Given the description of an element on the screen output the (x, y) to click on. 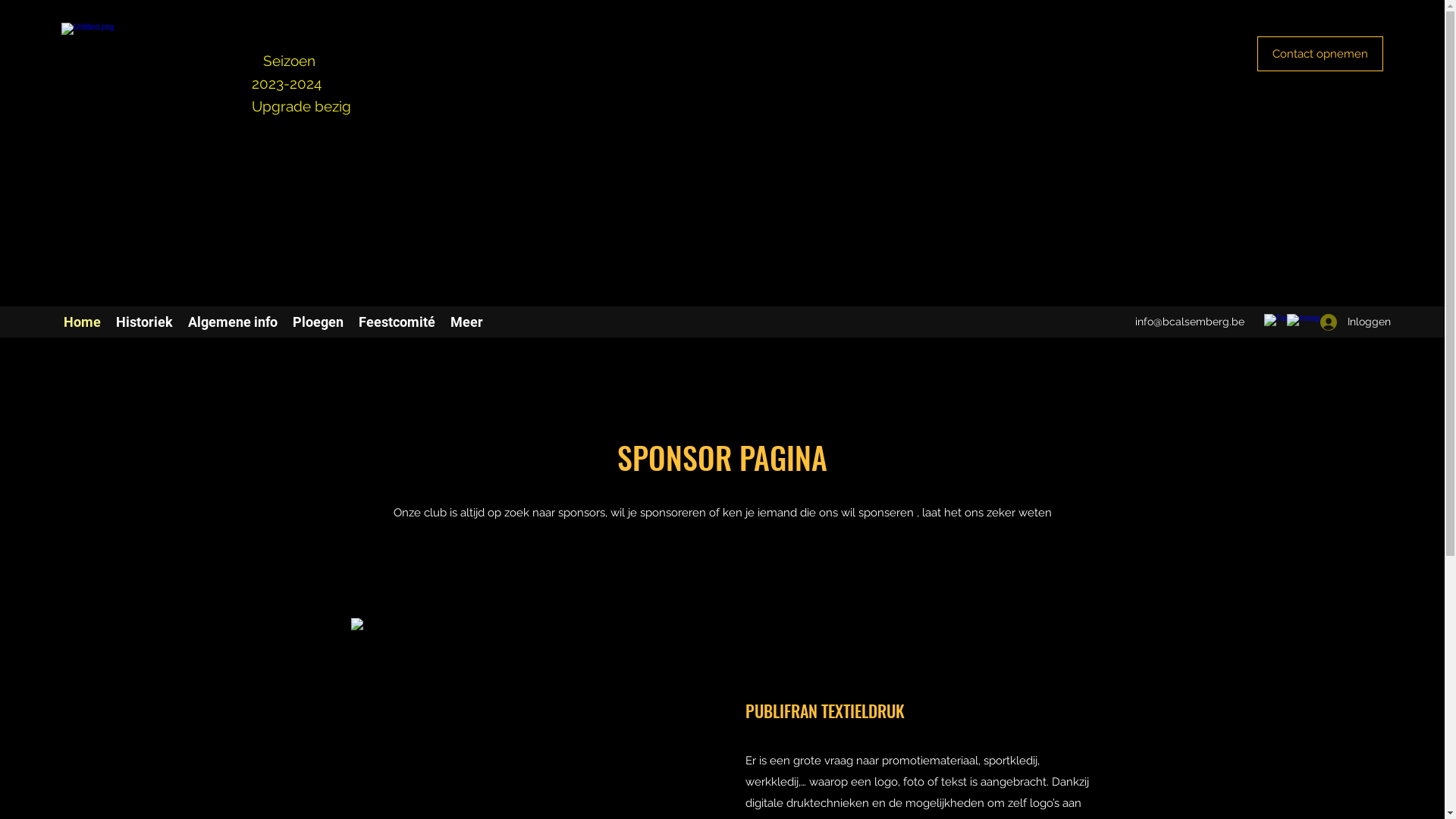
info@bcalsemberg.be Element type: text (1189, 321)
Ploegen Element type: text (318, 321)
Algemene info Element type: text (232, 321)
Contact opnemen Element type: text (1320, 53)
Inloggen Element type: text (1351, 321)
Home Element type: text (82, 321)
Historiek Element type: text (144, 321)
